Given the description of an element on the screen output the (x, y) to click on. 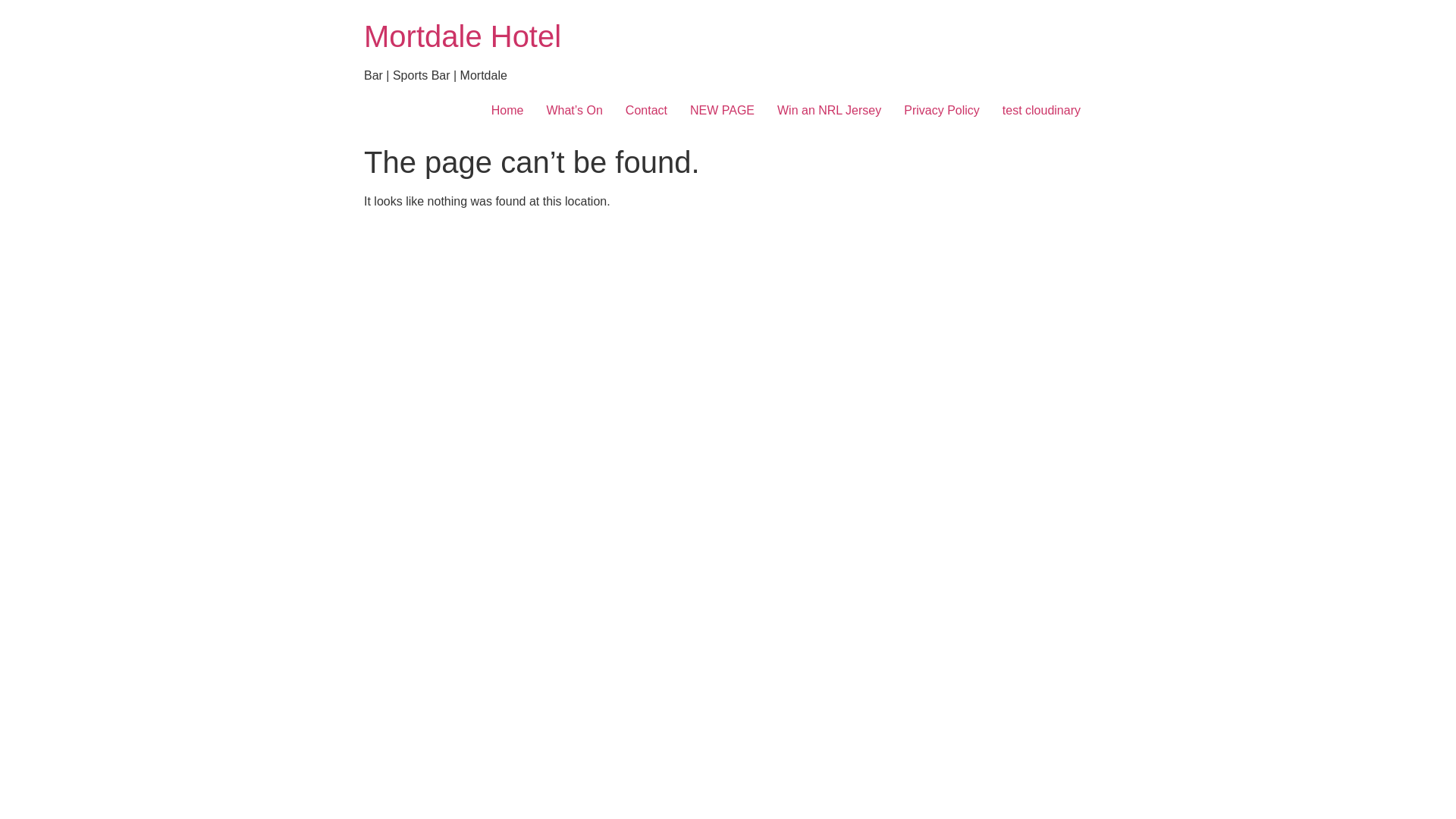
Mortdale Hotel Element type: text (462, 36)
test cloudinary Element type: text (1041, 110)
Home Element type: text (507, 110)
NEW PAGE Element type: text (721, 110)
Privacy Policy Element type: text (941, 110)
Win an NRL Jersey Element type: text (828, 110)
Contact Element type: text (646, 110)
